Given the description of an element on the screen output the (x, y) to click on. 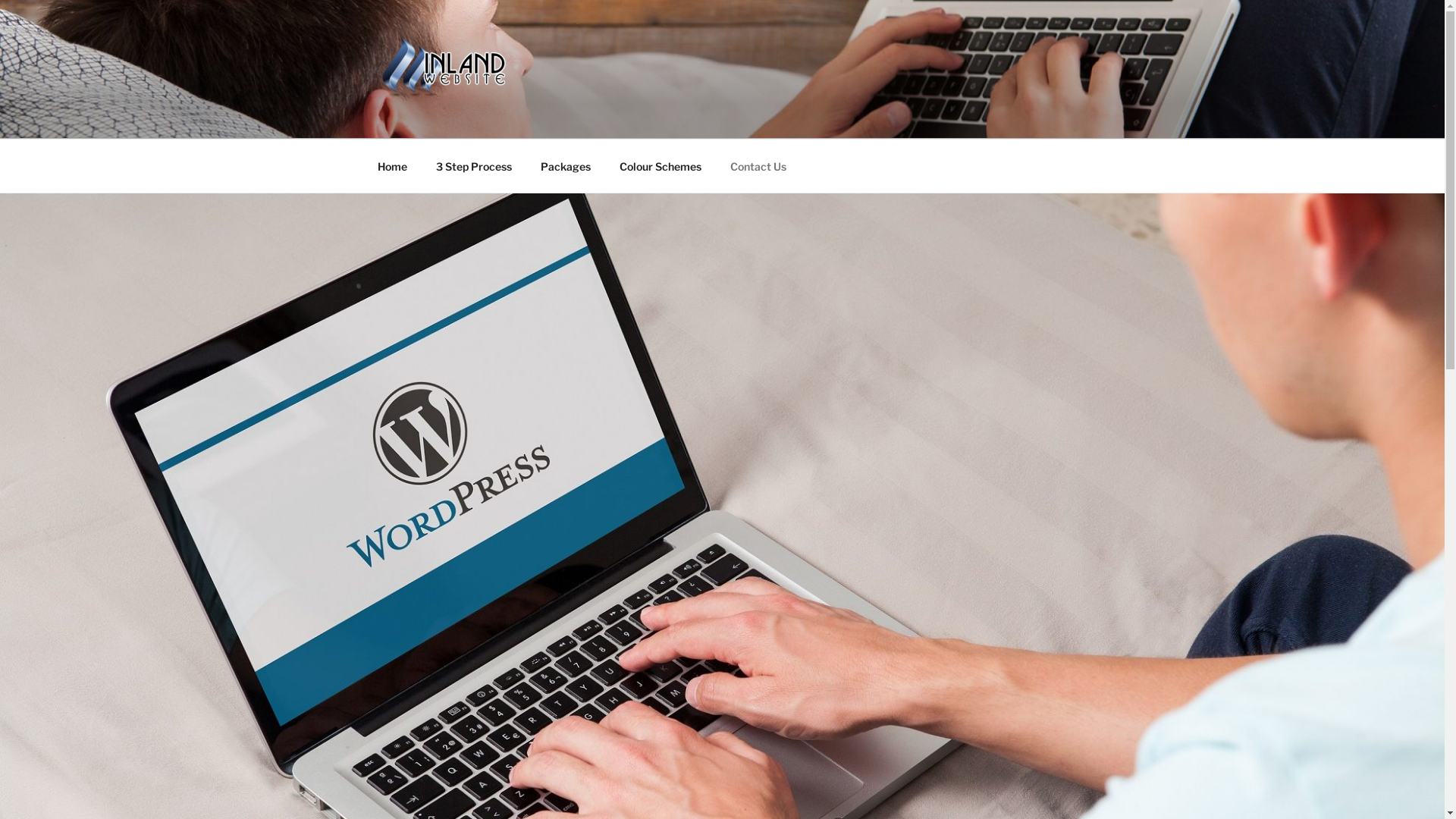
Colour Schemes Element type: text (660, 165)
Home Element type: text (392, 165)
INLAND WEBSITES Element type: text (528, 118)
Packages Element type: text (565, 165)
Contact Us Element type: text (758, 165)
3 Step Process Element type: text (474, 165)
